Given the description of an element on the screen output the (x, y) to click on. 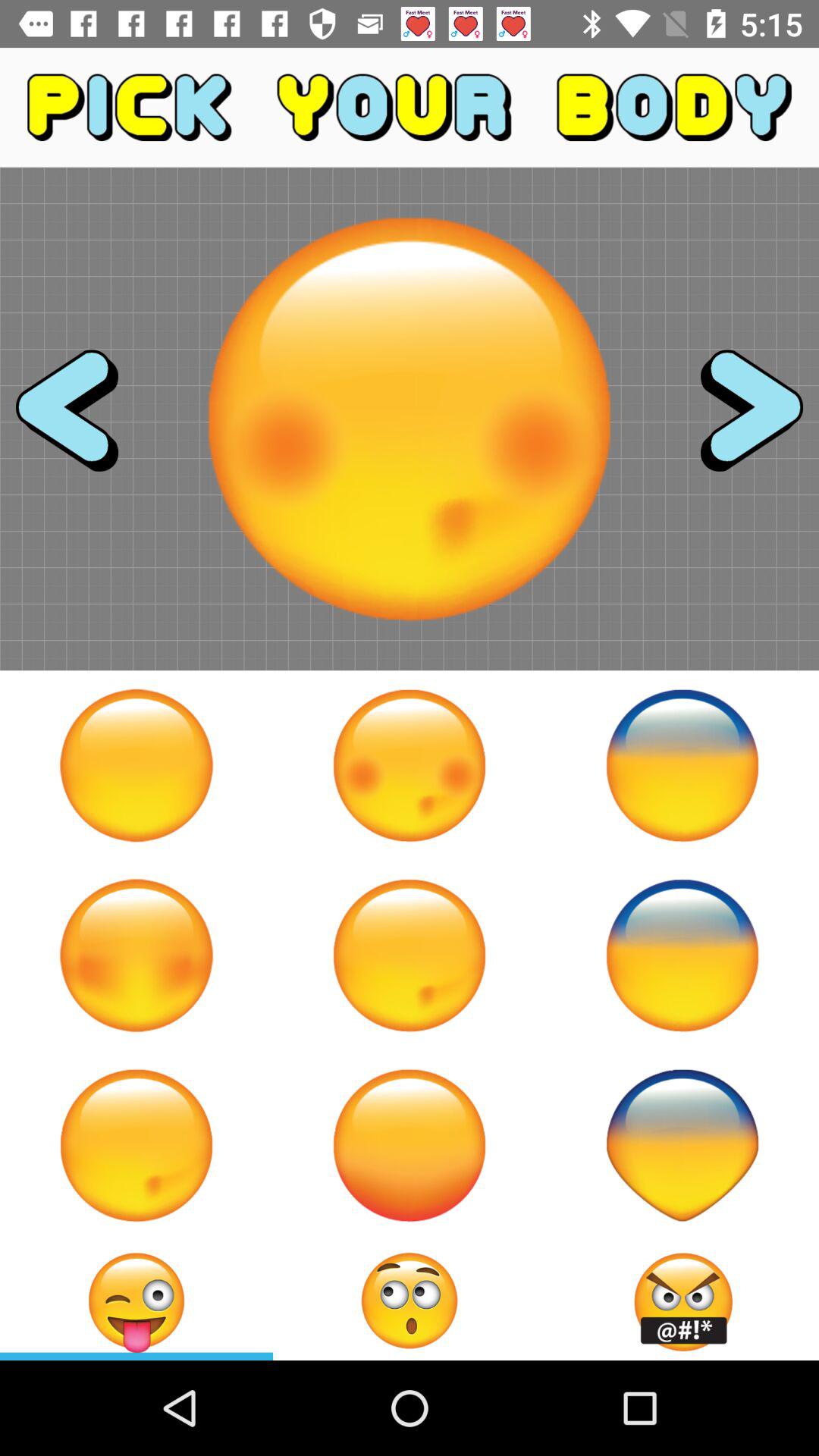
select body (682, 1145)
